Given the description of an element on the screen output the (x, y) to click on. 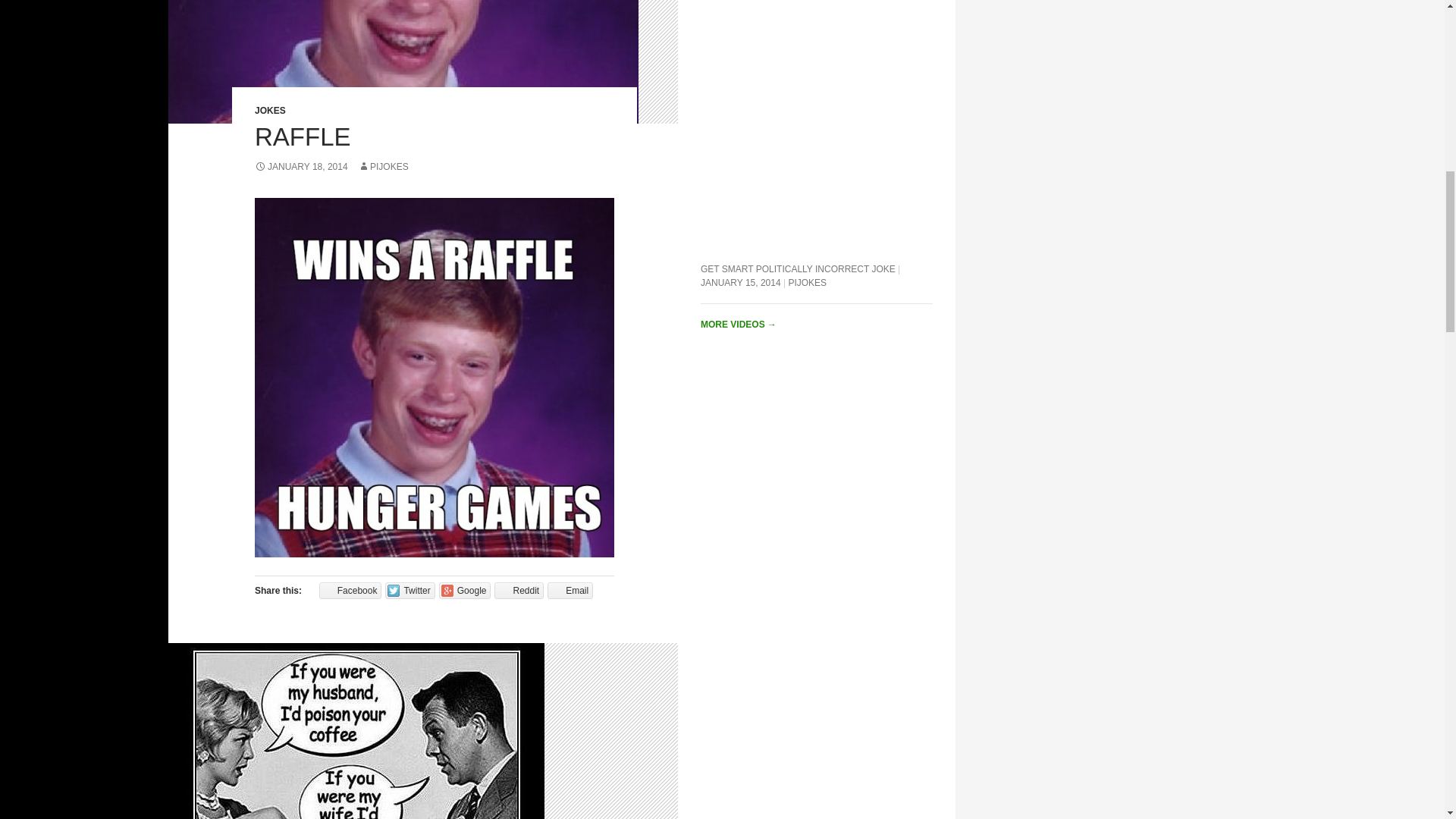
Facebook (349, 590)
Reddit (519, 590)
PIJOKES (383, 166)
Enter email address (1346, 170)
View all posts in Jokes (269, 110)
JANUARY 18, 2014 (300, 166)
RAFFLE (302, 136)
Share on Facebook (349, 590)
Click to share on Reddit (519, 590)
Google (465, 590)
JOKES (269, 110)
Click to share on Twitter (409, 590)
Twitter (409, 590)
Sign me up! (1349, 198)
Email (569, 590)
